Given the description of an element on the screen output the (x, y) to click on. 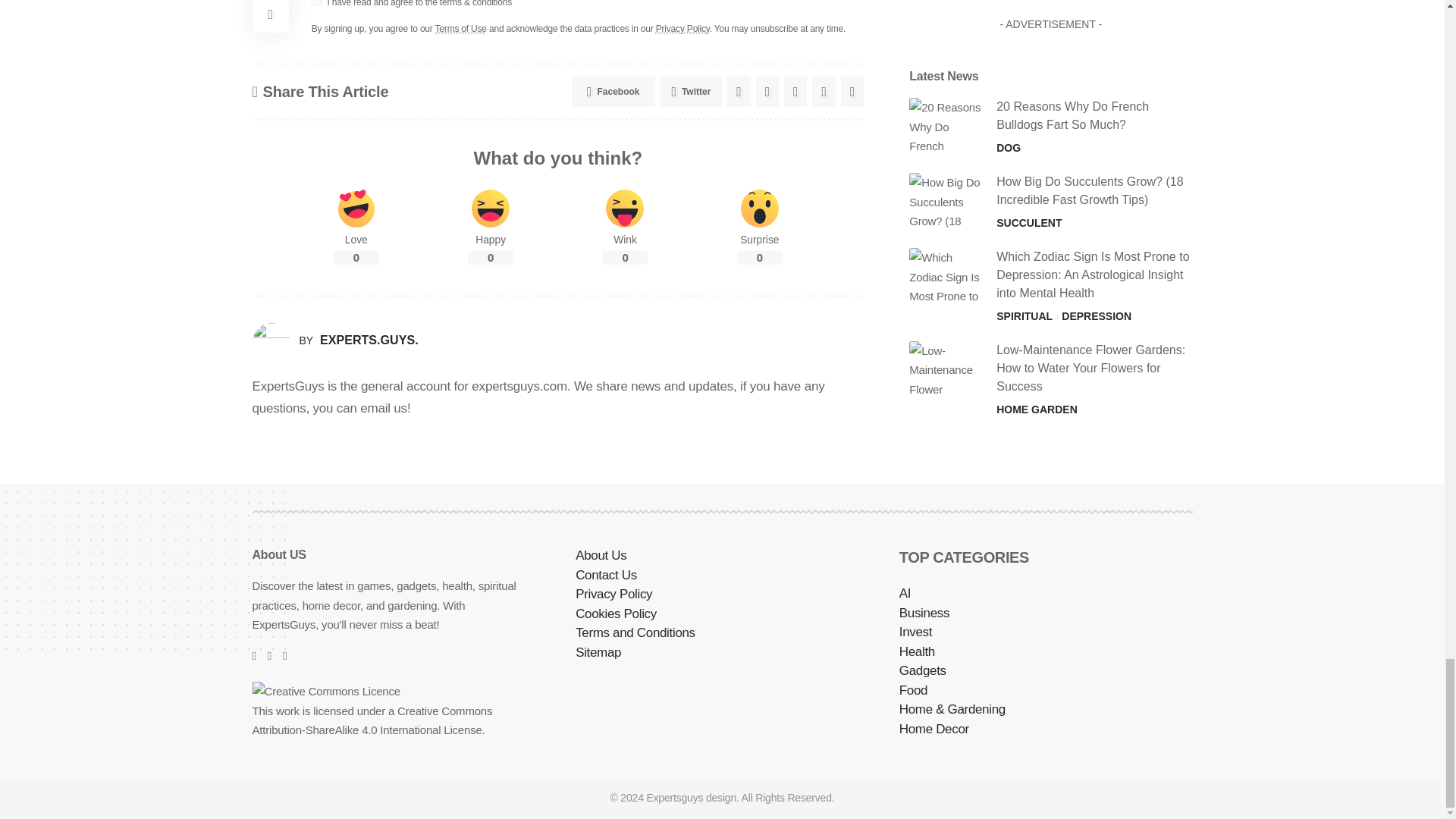
1 (316, 2)
